Given the description of an element on the screen output the (x, y) to click on. 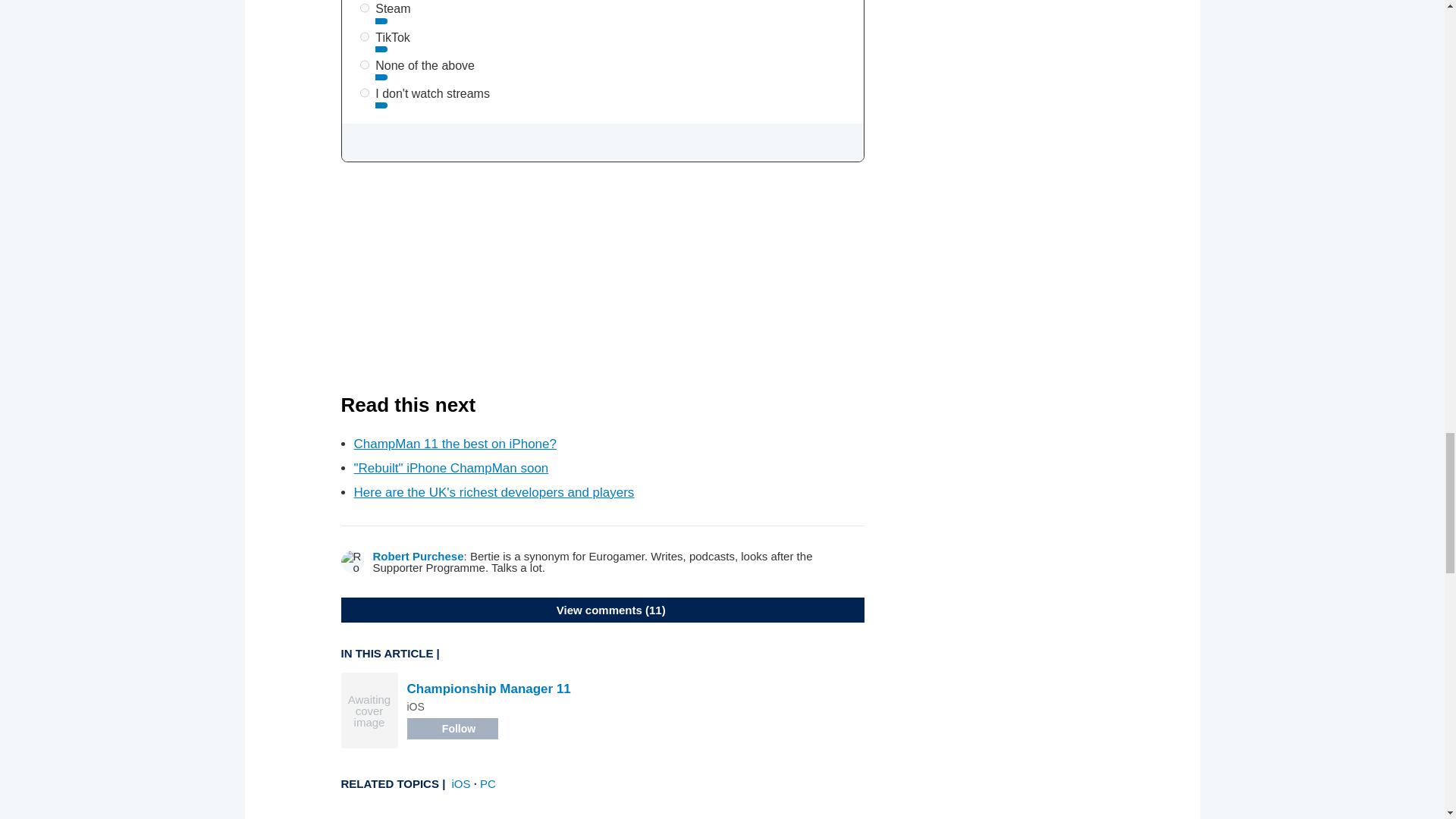
on (364, 36)
"Rebuilt" iPhone ChampMan soon (450, 468)
Here are the UK's richest developers and players (493, 492)
on (364, 64)
on (364, 8)
Robert Purchese (418, 555)
on (364, 92)
ChampMan 11 the best on iPhone? (454, 443)
